Given the description of an element on the screen output the (x, y) to click on. 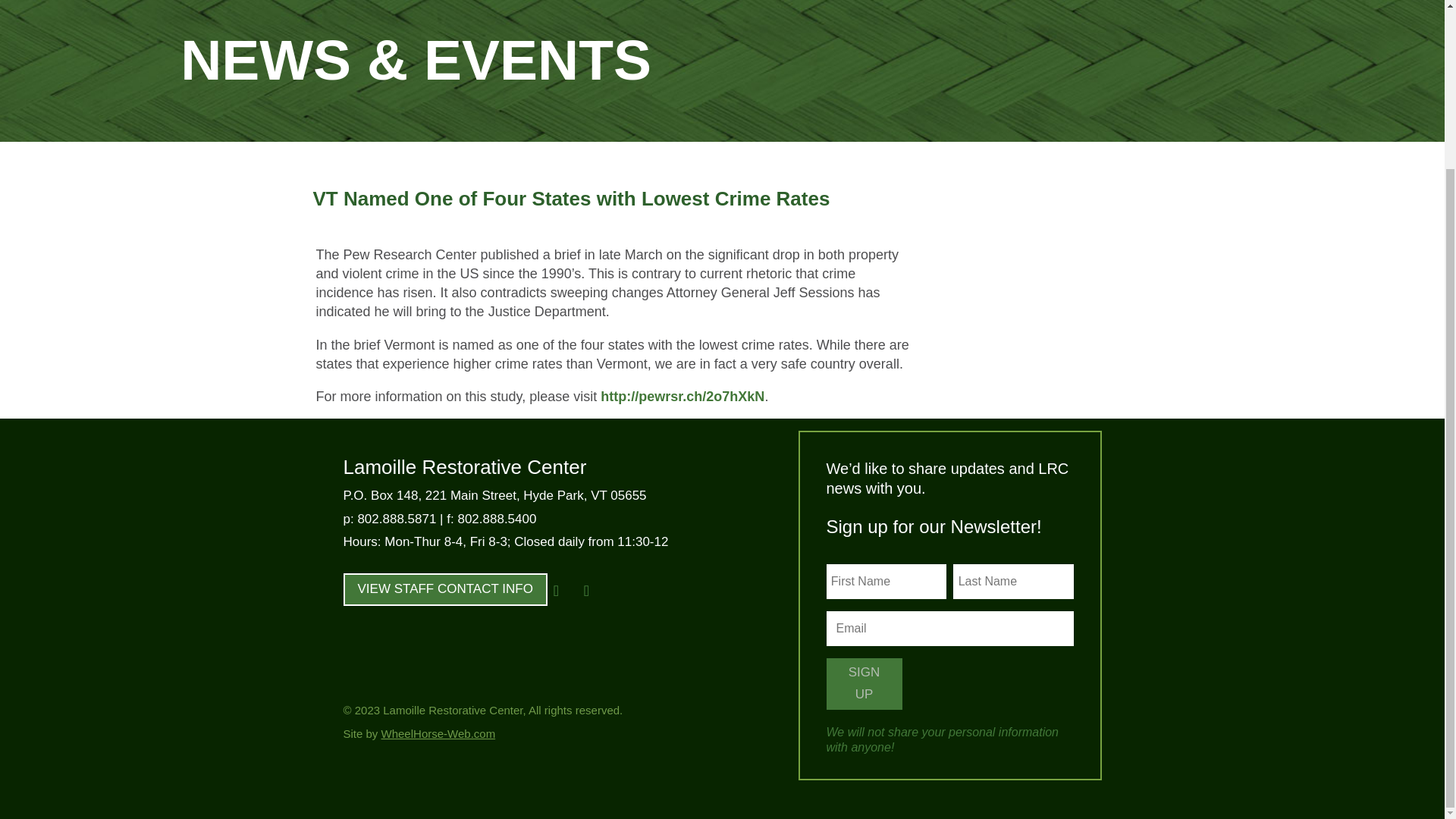
Follow on Facebook (556, 590)
Follow on Instagram (587, 590)
